Given the description of an element on the screen output the (x, y) to click on. 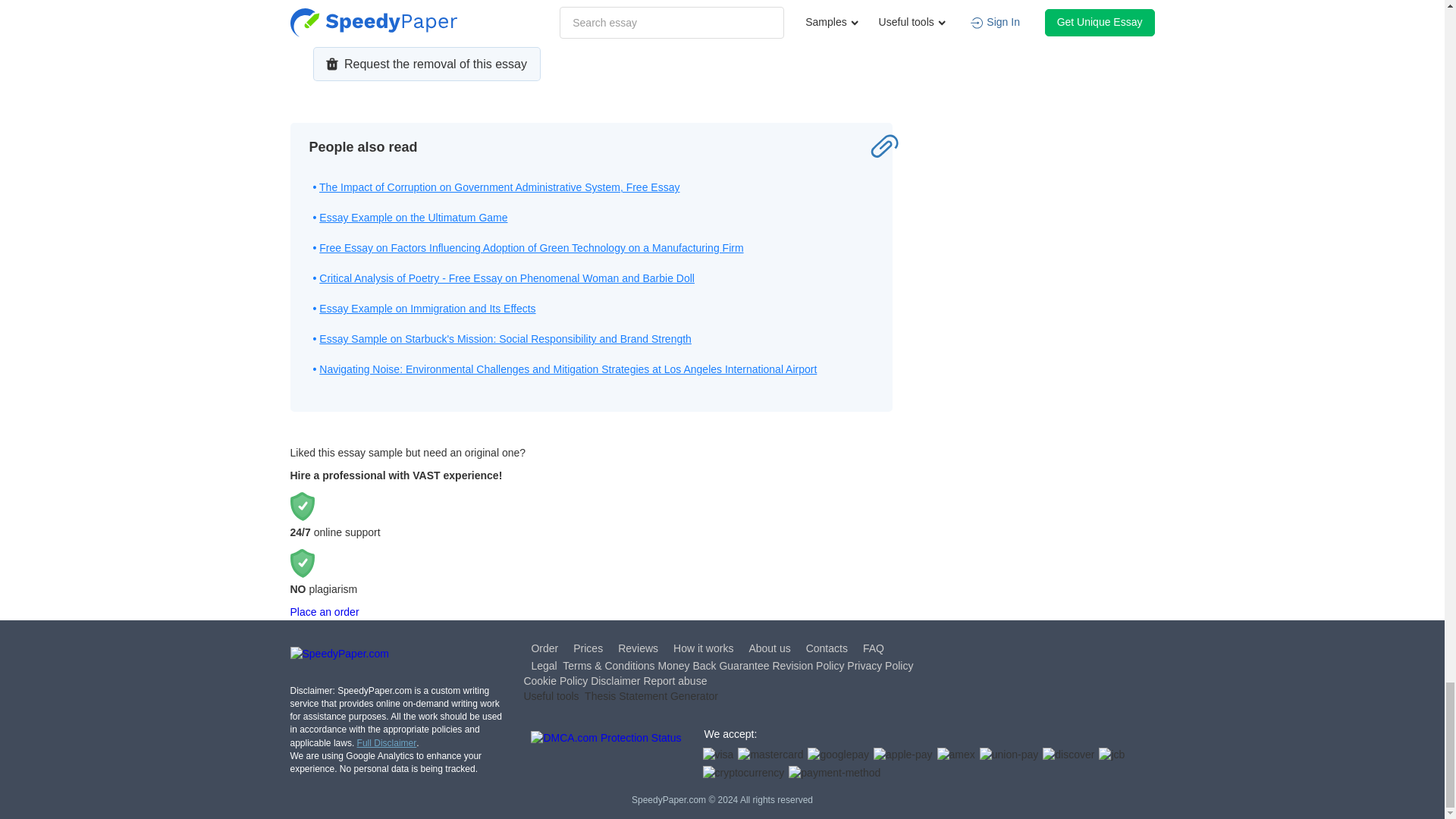
union-pay (1009, 754)
mastercard (770, 754)
apple-pay (903, 754)
discover (1068, 754)
payment-method (834, 773)
amex (956, 754)
googlepay (838, 754)
cryptocurrency (742, 773)
DMCA.com Protection Status (606, 756)
visa (717, 754)
